Given the description of an element on the screen output the (x, y) to click on. 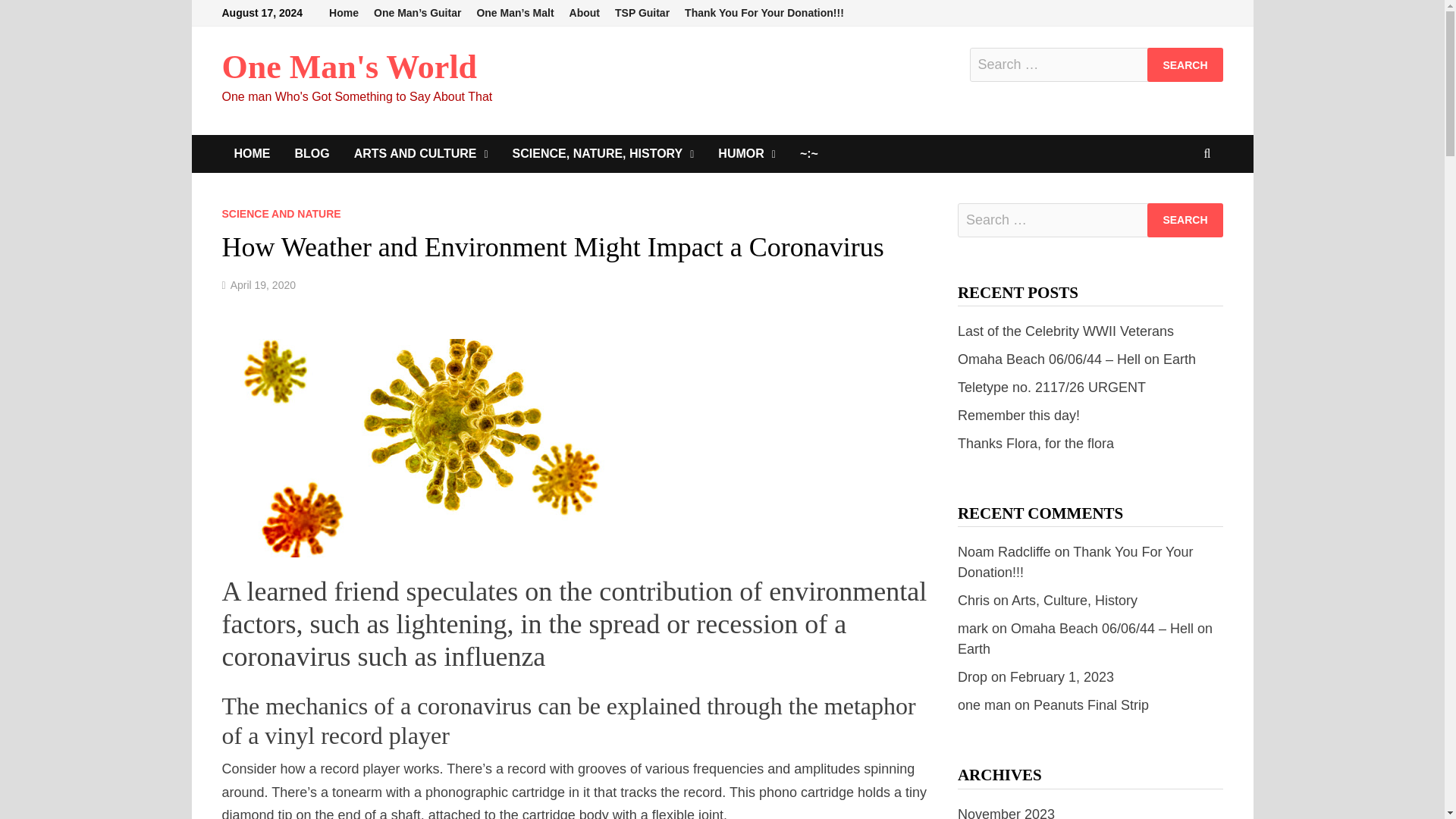
Search (1185, 220)
Home (343, 13)
HUMOR (746, 153)
SCIENCE, NATURE, HISTORY (603, 153)
BLOG (311, 153)
Search (1185, 220)
Search (1185, 64)
HOME (251, 153)
About (584, 13)
One Man's World (349, 66)
